Given the description of an element on the screen output the (x, y) to click on. 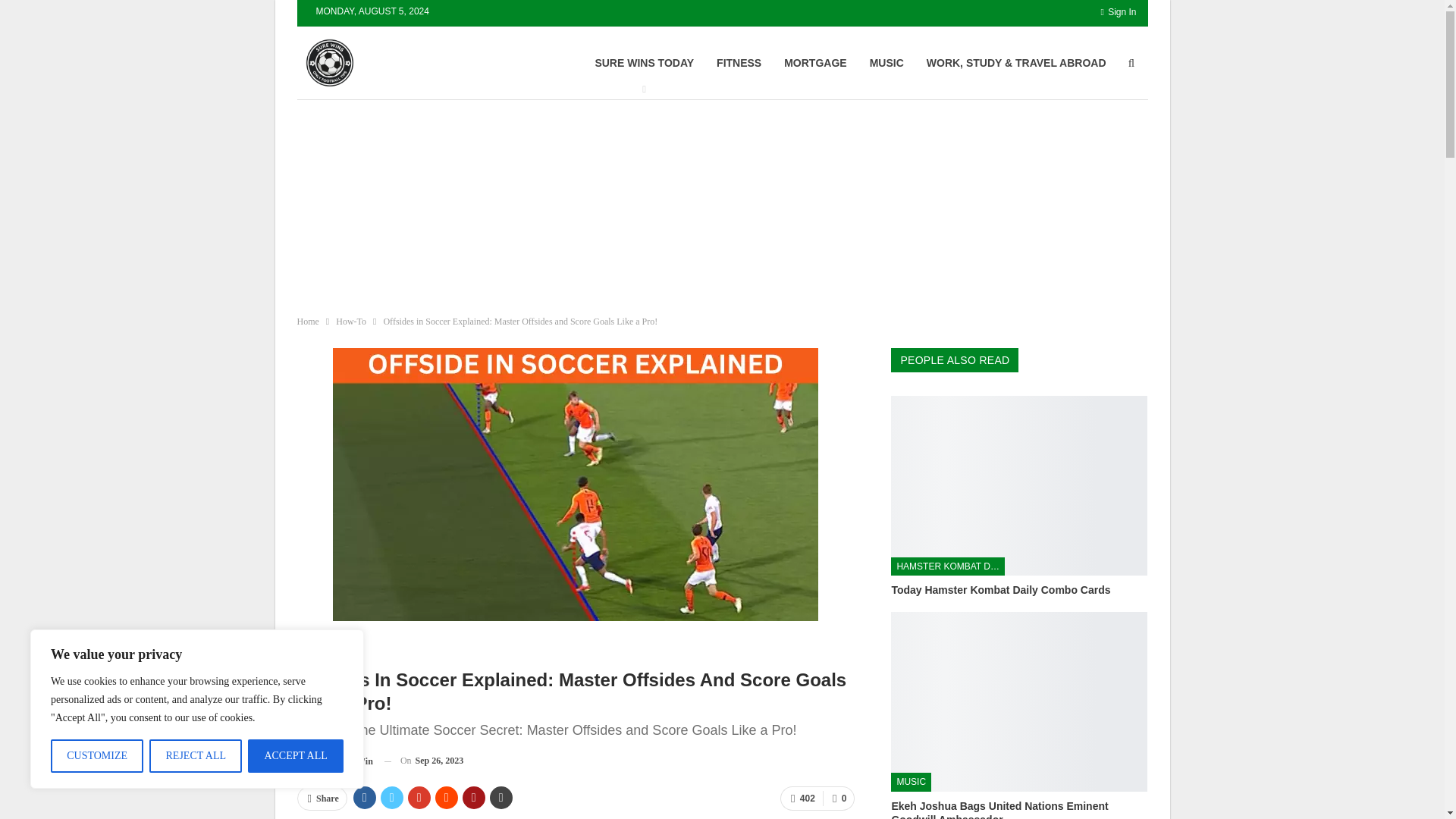
MORTGAGE (815, 62)
SURE WINS TODAY (643, 62)
REJECT ALL (195, 756)
How-To (351, 321)
Browse Author Articles (334, 761)
Advertisement (388, 200)
FITNESS (738, 62)
Sign In (1117, 12)
By Sure Win (334, 761)
CUSTOMIZE (96, 756)
Home (307, 321)
ACCEPT ALL (295, 756)
HOW-TO (321, 647)
0 (839, 798)
